Given the description of an element on the screen output the (x, y) to click on. 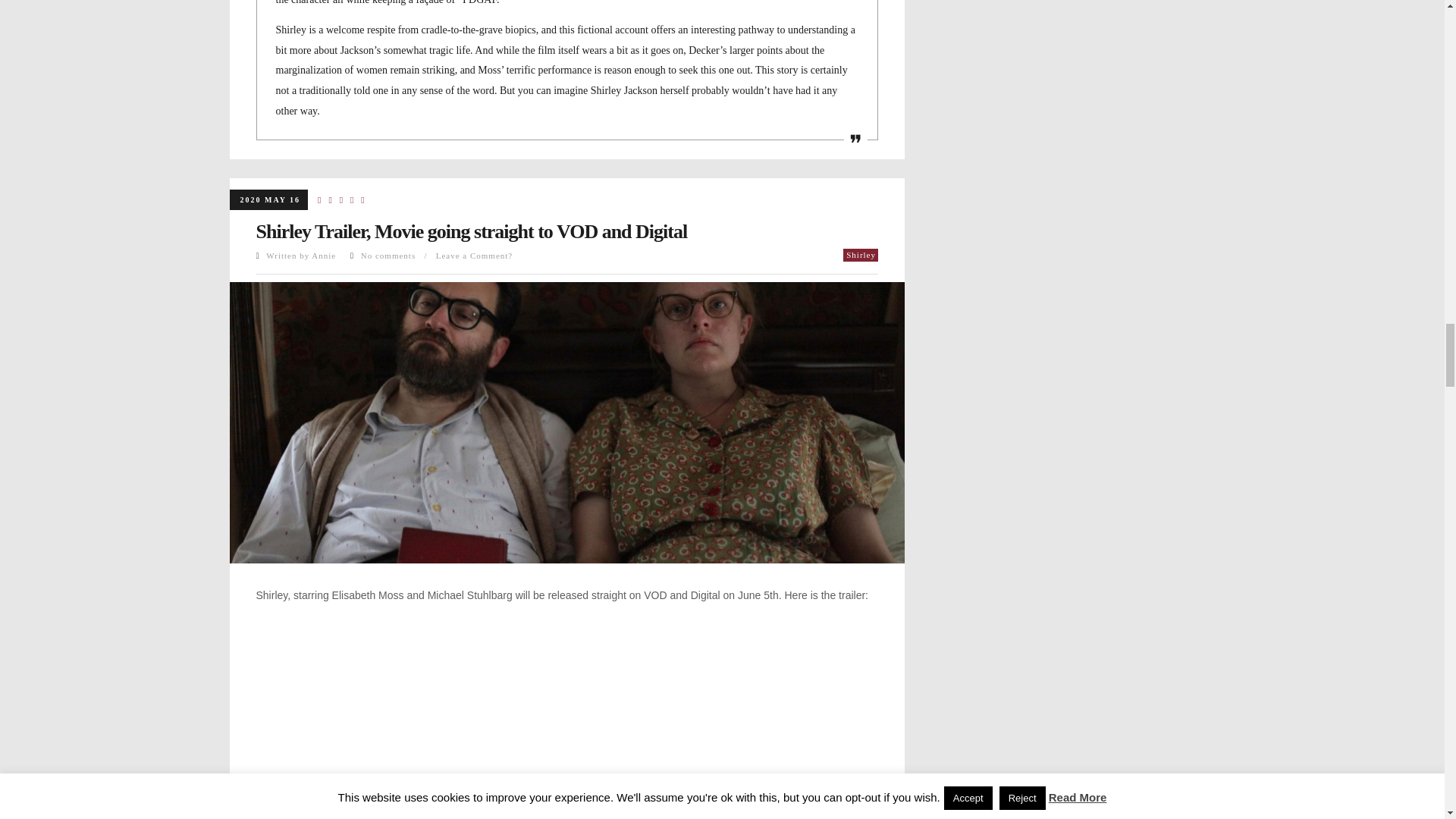
Shirley (860, 254)
Shirley Trailer, Movie going straight to VOD and Digital (471, 231)
